Given the description of an element on the screen output the (x, y) to click on. 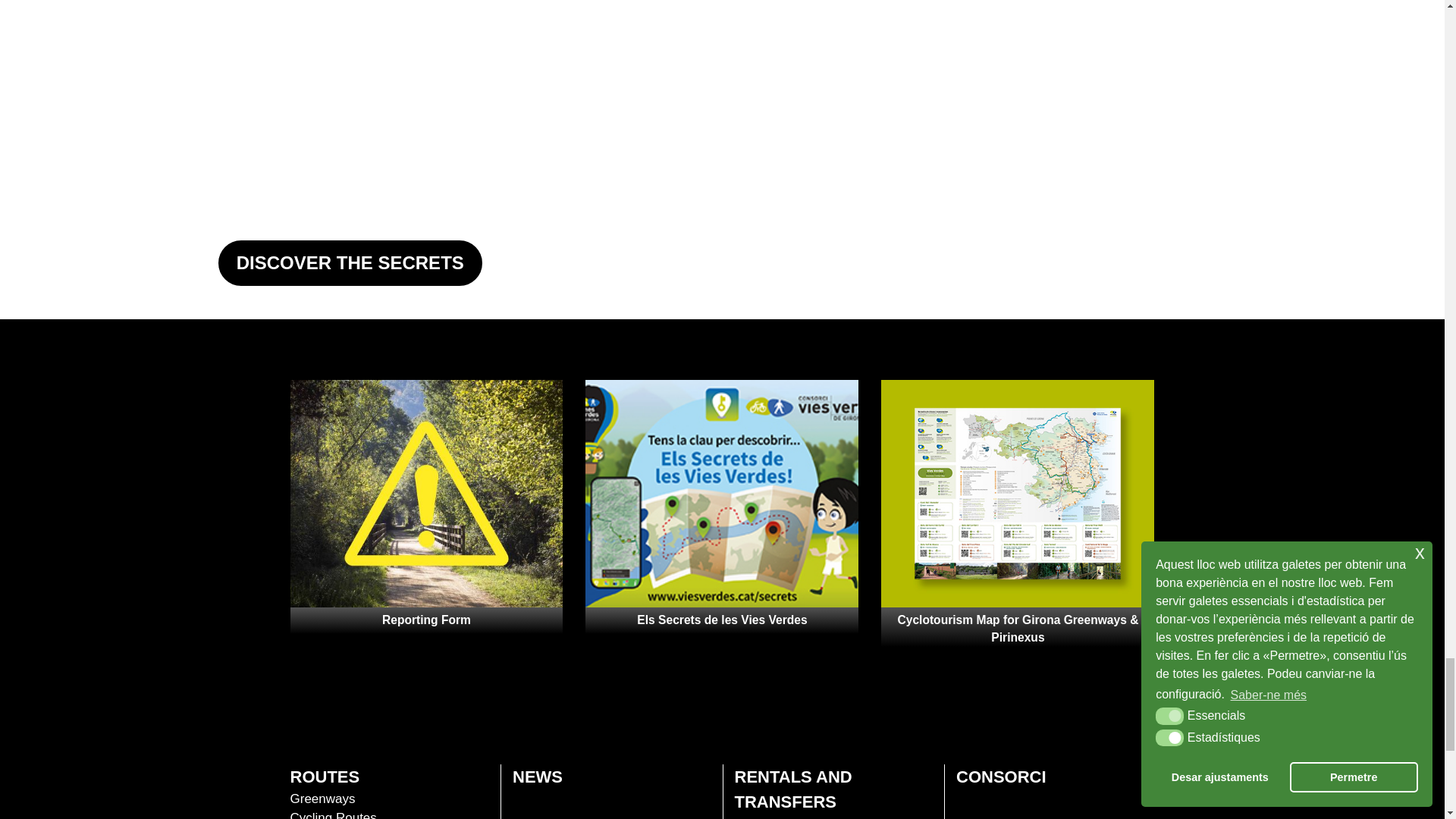
descobreix els secrets de les Vies Verdes de Girona (349, 263)
